Given the description of an element on the screen output the (x, y) to click on. 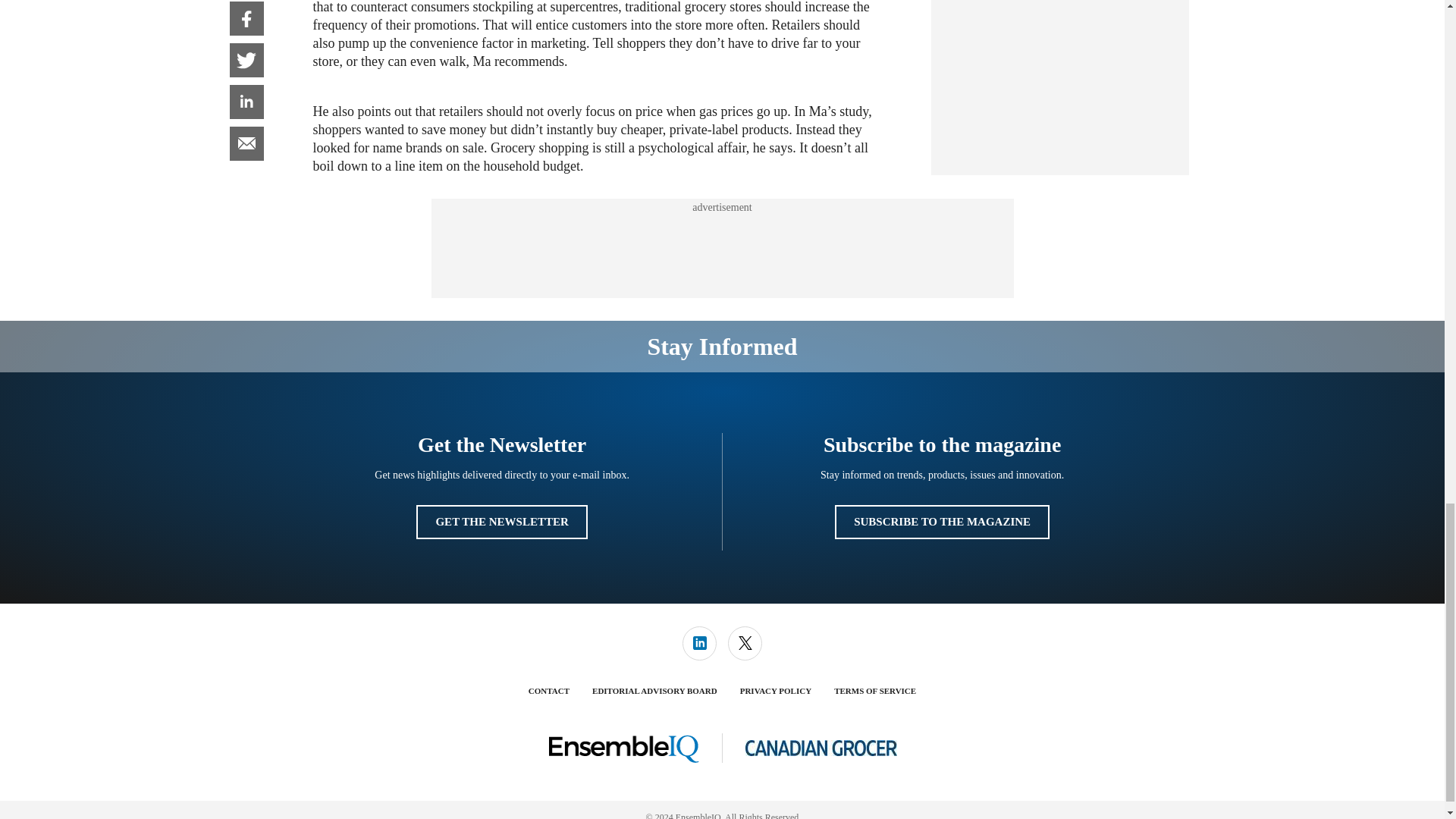
3rd party ad content (721, 248)
